Given the description of an element on the screen output the (x, y) to click on. 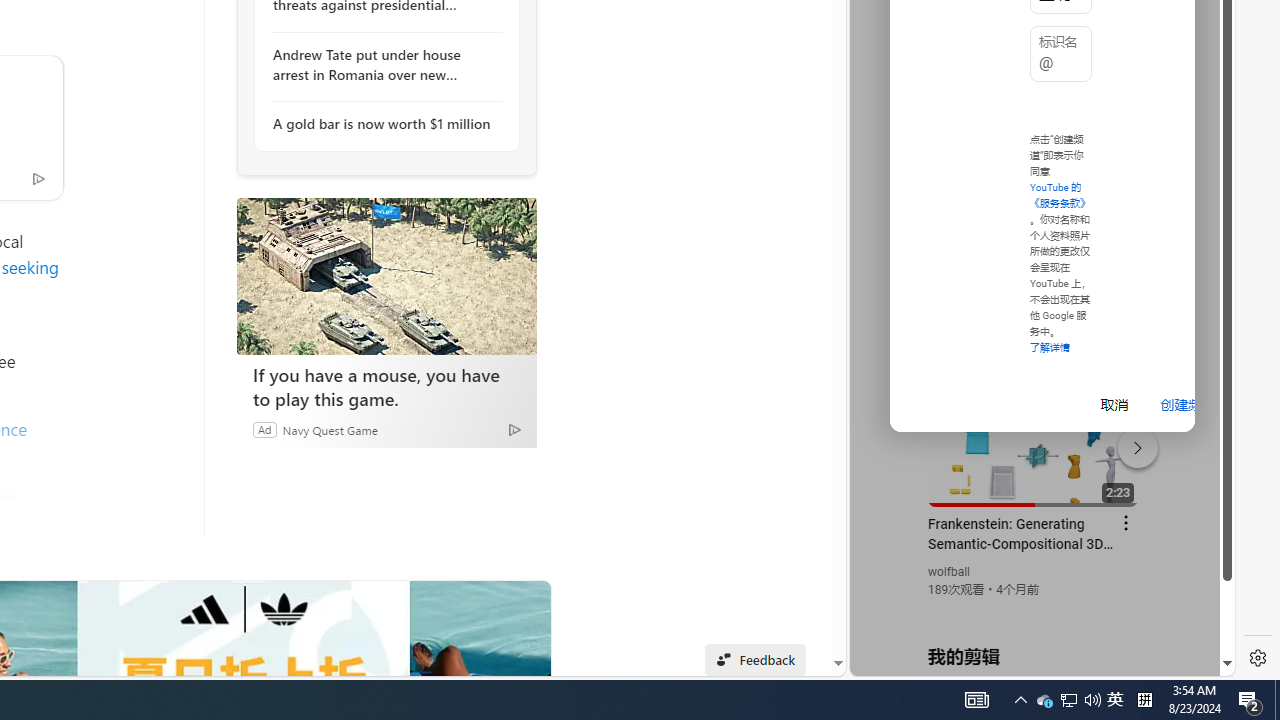
A gold bar is now worth $1 million (381, 124)
If you have a mouse, you have to play this game. (386, 386)
